Given the description of an element on the screen output the (x, y) to click on. 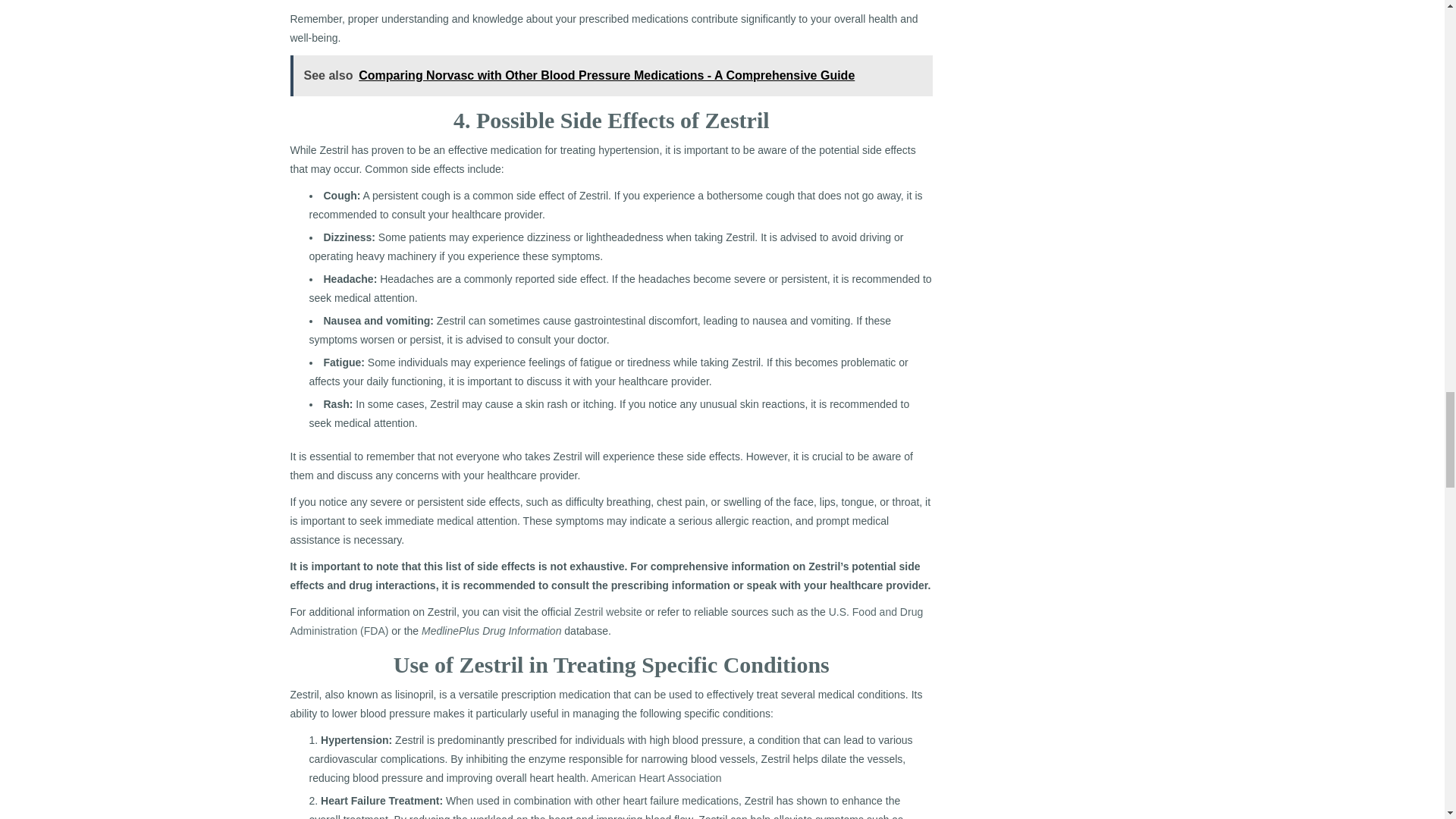
MedlinePlus Drug Information (491, 630)
American Heart Association (656, 777)
Zestril website (607, 612)
